Given the description of an element on the screen output the (x, y) to click on. 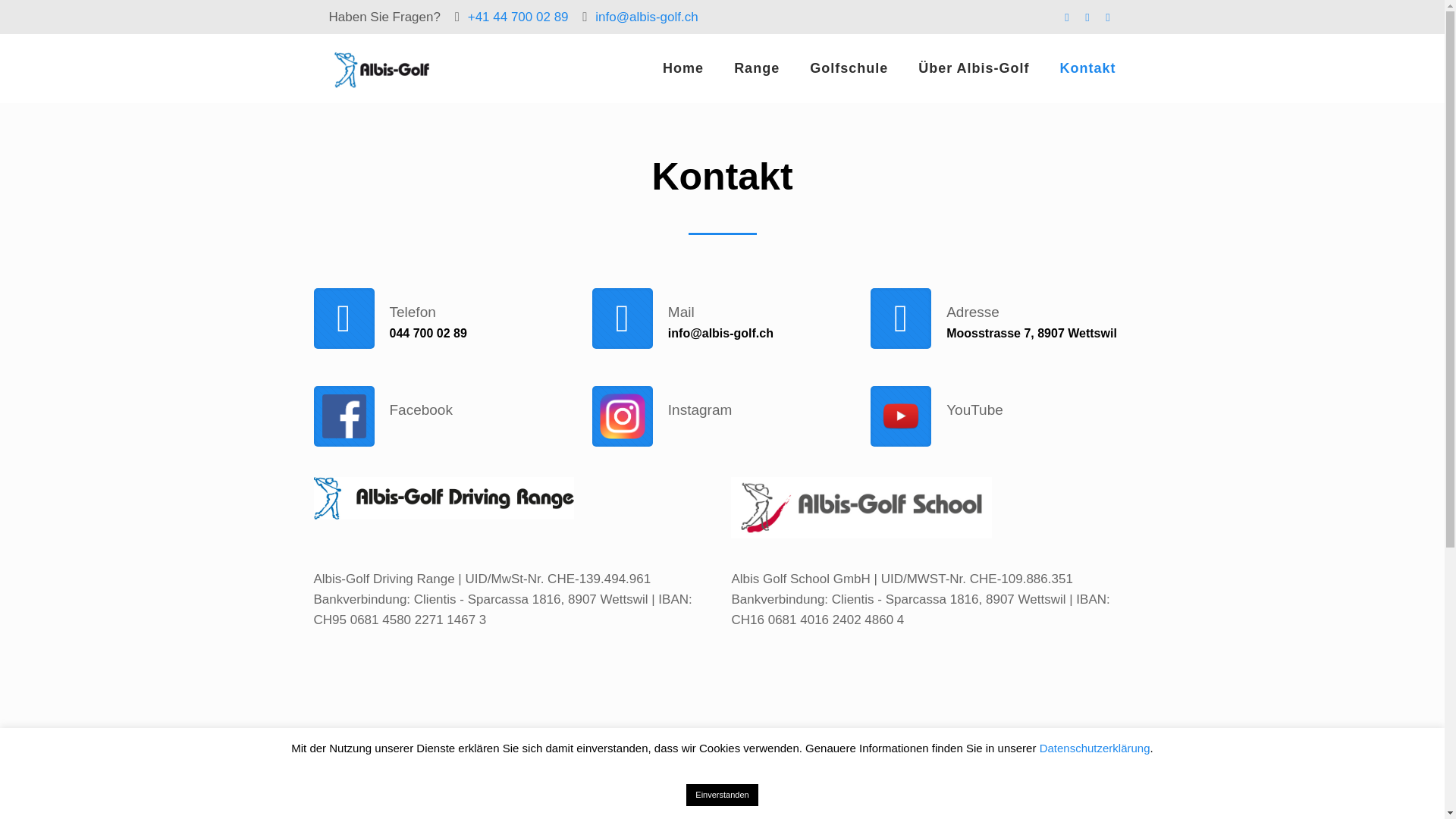
Kontakt Element type: text (1087, 68)
Range Element type: text (756, 68)
Telefon
044 700 02 89 Element type: text (443, 316)
YouTube Element type: text (1000, 402)
Instagram Element type: text (722, 402)
Instagram Element type: hover (1107, 16)
Einverstanden Element type: text (721, 795)
Facebook Element type: hover (1066, 16)
Adresse
Moosstrasse 7, 8907 Wettswil Element type: text (1000, 316)
Mail
info@albis-golf.ch Element type: text (722, 316)
+41 44 700 02 89 Element type: text (517, 16)
YouTube Element type: hover (1087, 16)
info@albis-golf.ch Element type: text (646, 16)
Home Element type: text (682, 68)
Golfschule Element type: text (848, 68)
Facebook Element type: text (443, 402)
Albis-Golf Driving Range Element type: hover (380, 68)
